Given the description of an element on the screen output the (x, y) to click on. 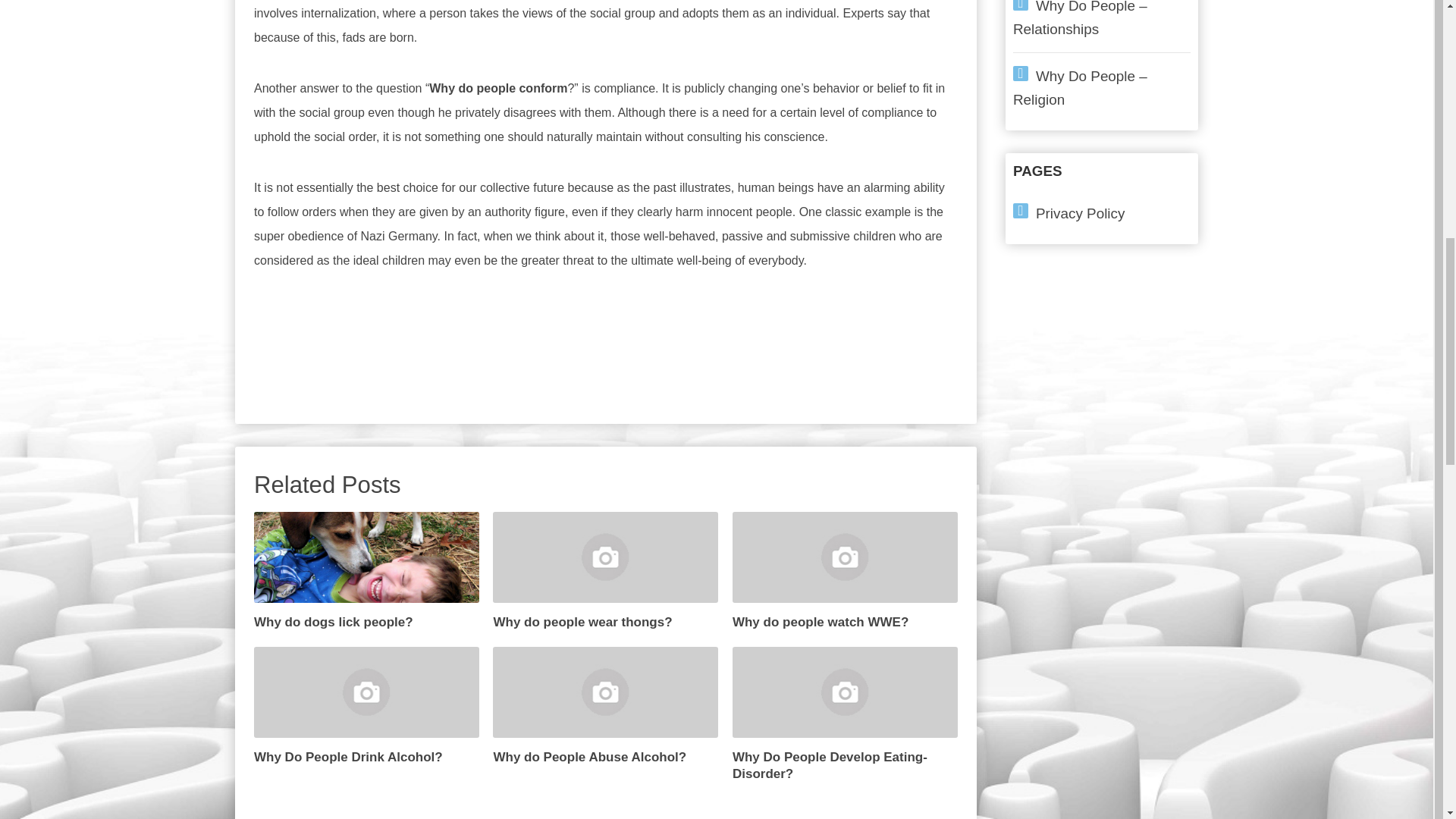
Why Do People Drink Alcohol? (366, 706)
Why do people wear thongs? (605, 571)
Why do dogs lick people? (366, 571)
Why Do People Develop Eating-Disorder? (845, 714)
Why do people watch WWE? (845, 571)
Why do People Abuse Alcohol? (605, 706)
